Given the description of an element on the screen output the (x, y) to click on. 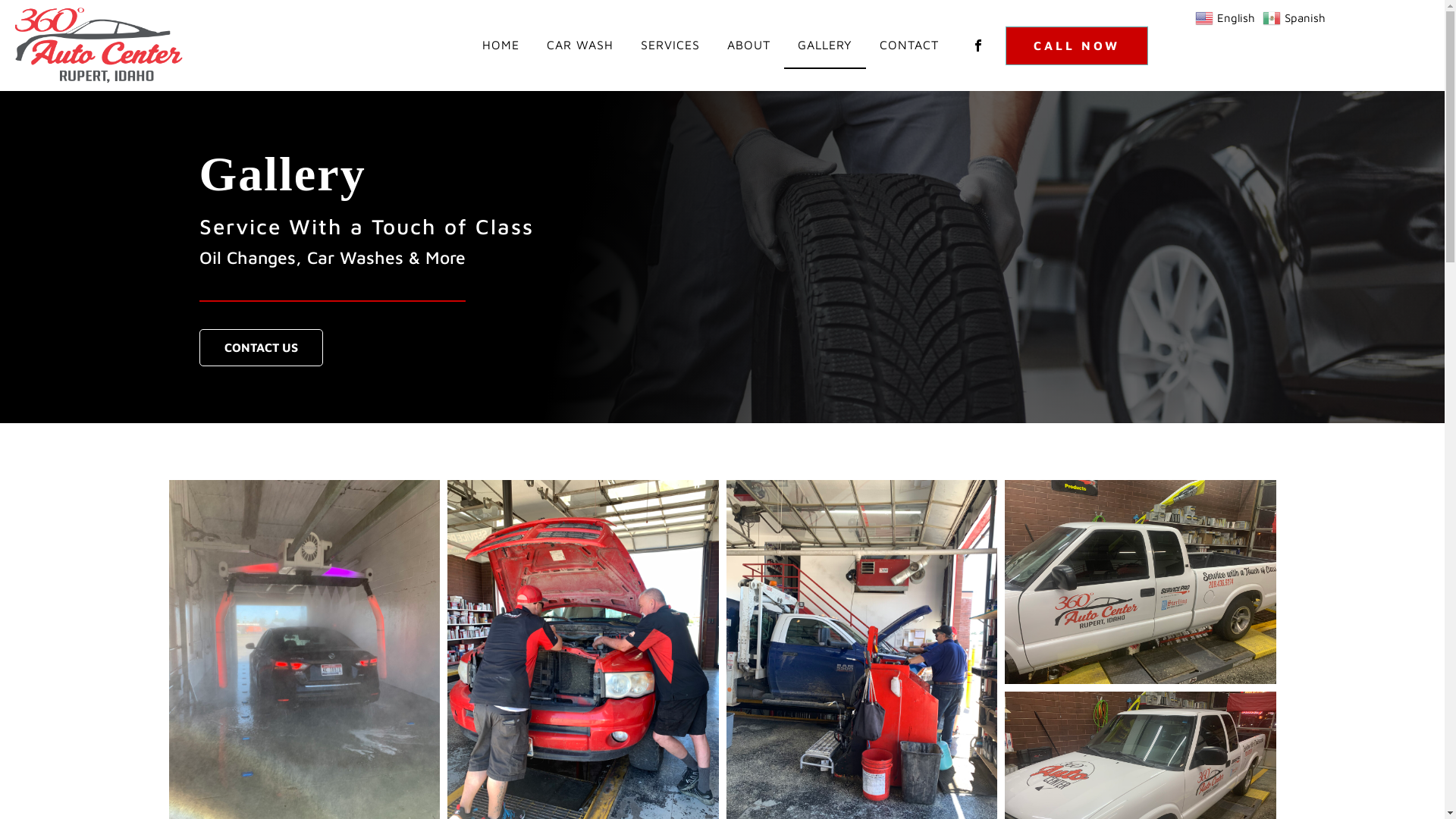
ABOUT Element type: text (748, 45)
HOME Element type: text (500, 45)
SERVICES Element type: text (670, 45)
CAR WASH Element type: text (580, 45)
CALL NOW Element type: text (1076, 45)
English Element type: text (1226, 16)
CONTACT Element type: text (909, 45)
GALLERY Element type: text (825, 45)
CONTACT US Element type: text (260, 348)
Spanish Element type: text (1295, 16)
